Given the description of an element on the screen output the (x, y) to click on. 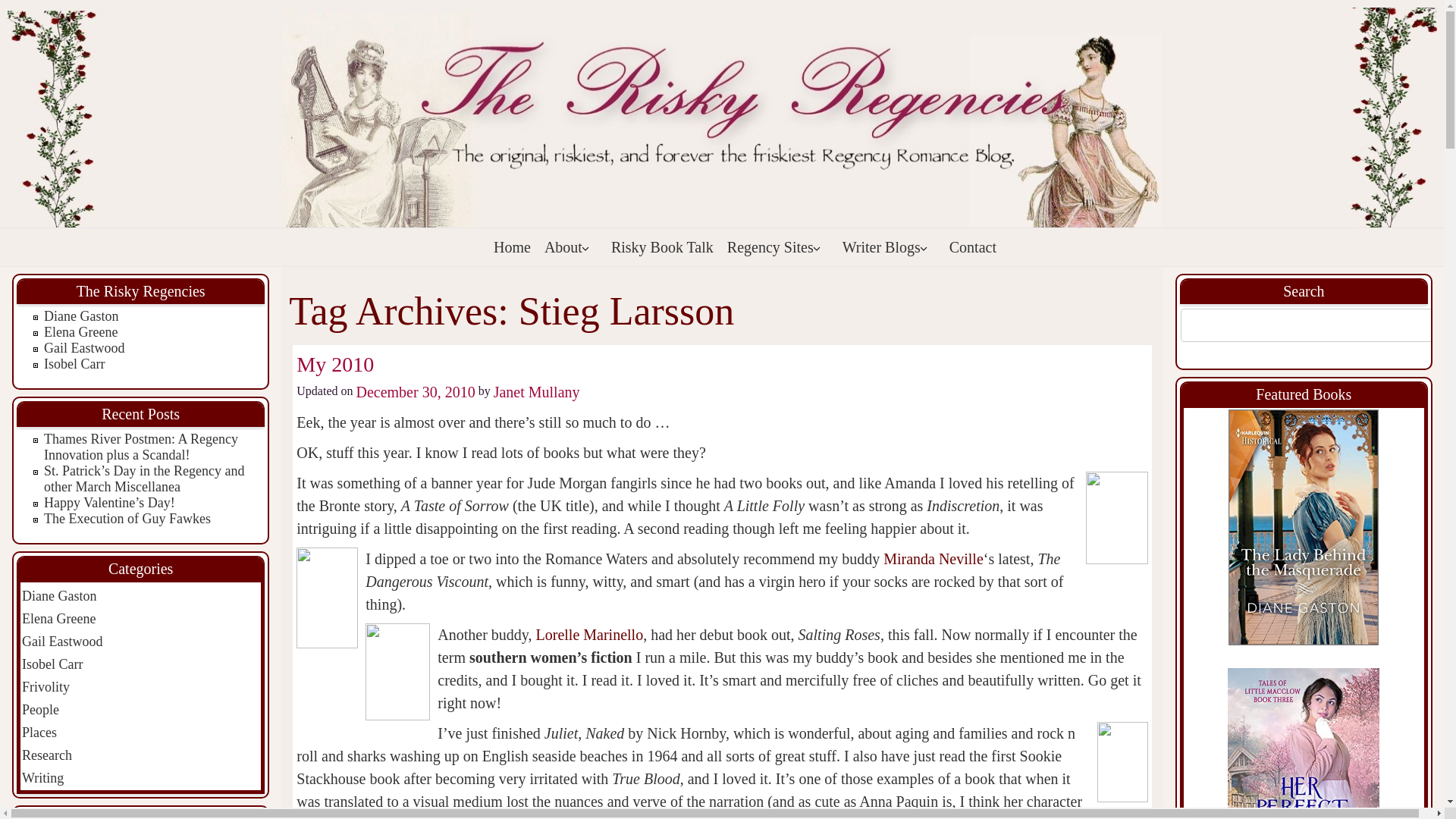
The website of romance author Isobel Carr (73, 363)
Permalink to My 2010 (335, 363)
Elena Greene (80, 331)
Risky Book Talk (662, 247)
Thames River Postmen: A Regency Innovation plus a Scandal! (140, 446)
Website of author Gail Eastwood (83, 347)
Home (512, 247)
Regency Sites (777, 247)
About (570, 247)
View all posts by Janet Mullany (536, 392)
